Given the description of an element on the screen output the (x, y) to click on. 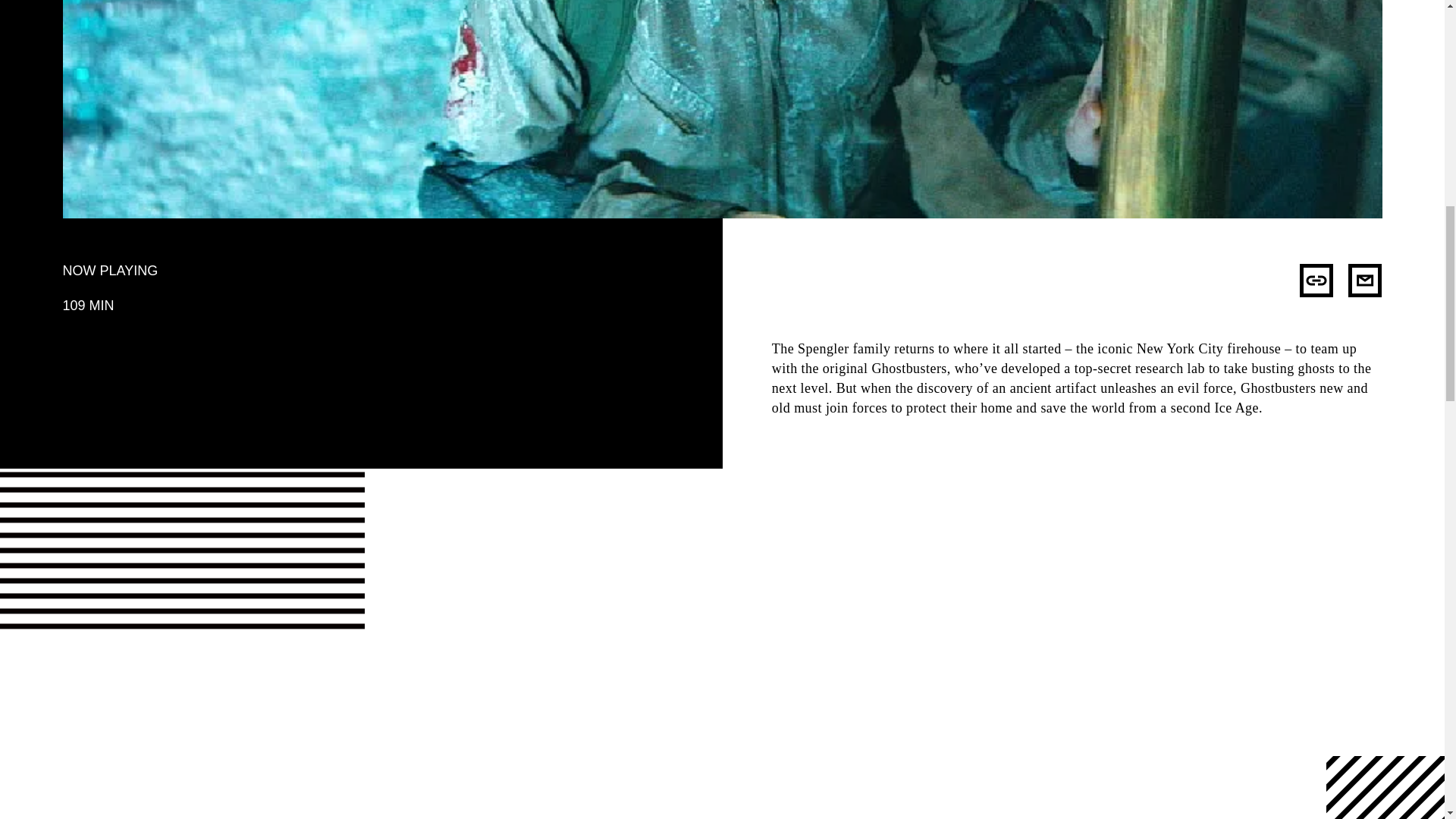
Copy URL (1316, 280)
Email (1364, 280)
